Given the description of an element on the screen output the (x, y) to click on. 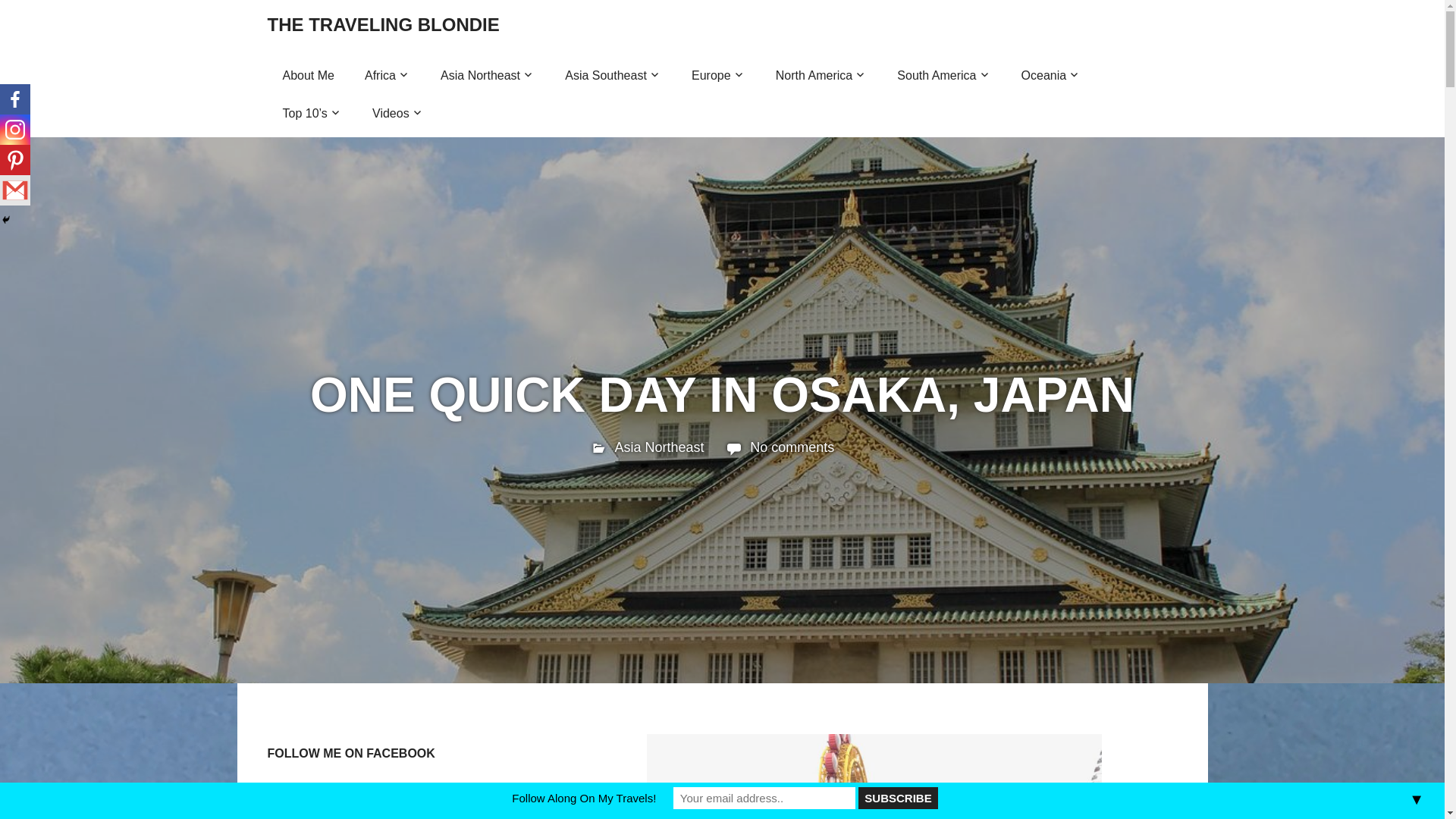
8:00 am (658, 447)
THE TRAVELING BLONDIE (382, 24)
About Me (307, 75)
One Quick Day In Osaka, Japan (873, 776)
Africa (387, 75)
Asia Northeast (487, 75)
Subscribe (898, 798)
Facebook (15, 99)
View all posts by thetravelingblondie (671, 447)
